Given the description of an element on the screen output the (x, y) to click on. 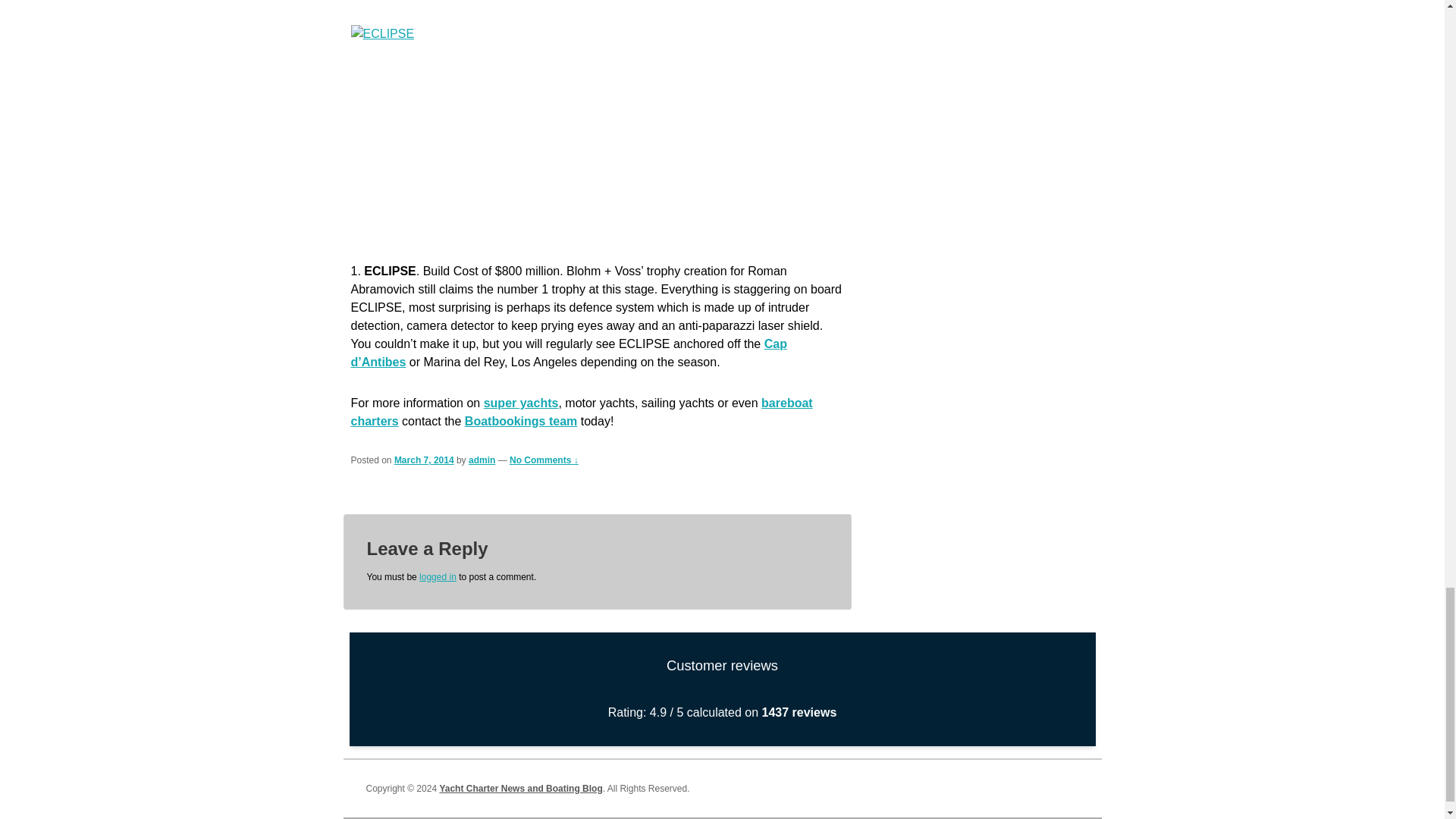
bareboat charters (581, 411)
The Boatbookings Worldwide Team! (520, 420)
admin (481, 460)
Boatbookings team (520, 420)
12:39 pm (424, 460)
Luxury and Super Yacht Charter Guide (521, 402)
super yachts (521, 402)
Bareboat Charters Worldwide with Boatbookings.com (581, 411)
Antibes, Port Vauban and Cap d'Antibes Yacht Charter Guide (568, 352)
March 7, 2014 (424, 460)
